Given the description of an element on the screen output the (x, y) to click on. 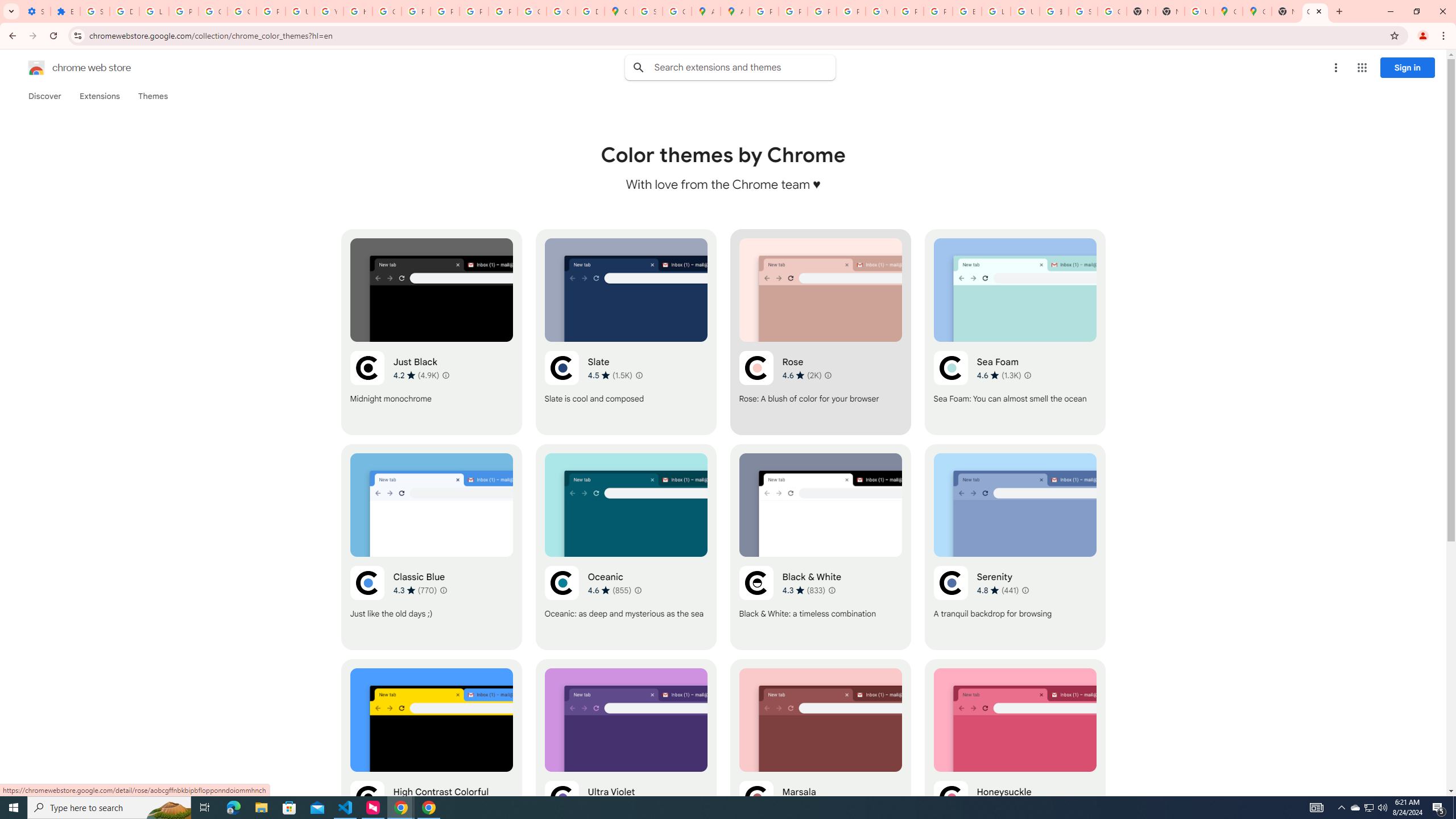
Average rating 4.6 out of 5 stars. 2K ratings. (801, 375)
Learn more about results and reviews "Oceanic" (637, 590)
Privacy Help Center - Policies Help (821, 11)
Use Google Maps in Space - Google Maps Help (1198, 11)
Learn more about results and reviews "Rose" (827, 375)
Privacy Help Center - Policies Help (415, 11)
Chrome Web Store - Color themes by Chrome (1315, 11)
Average rating 4.2 out of 5 stars. 4.9K ratings. (416, 375)
Average rating 4.6 out of 5 stars. 1.3K ratings. (999, 375)
